Given the description of an element on the screen output the (x, y) to click on. 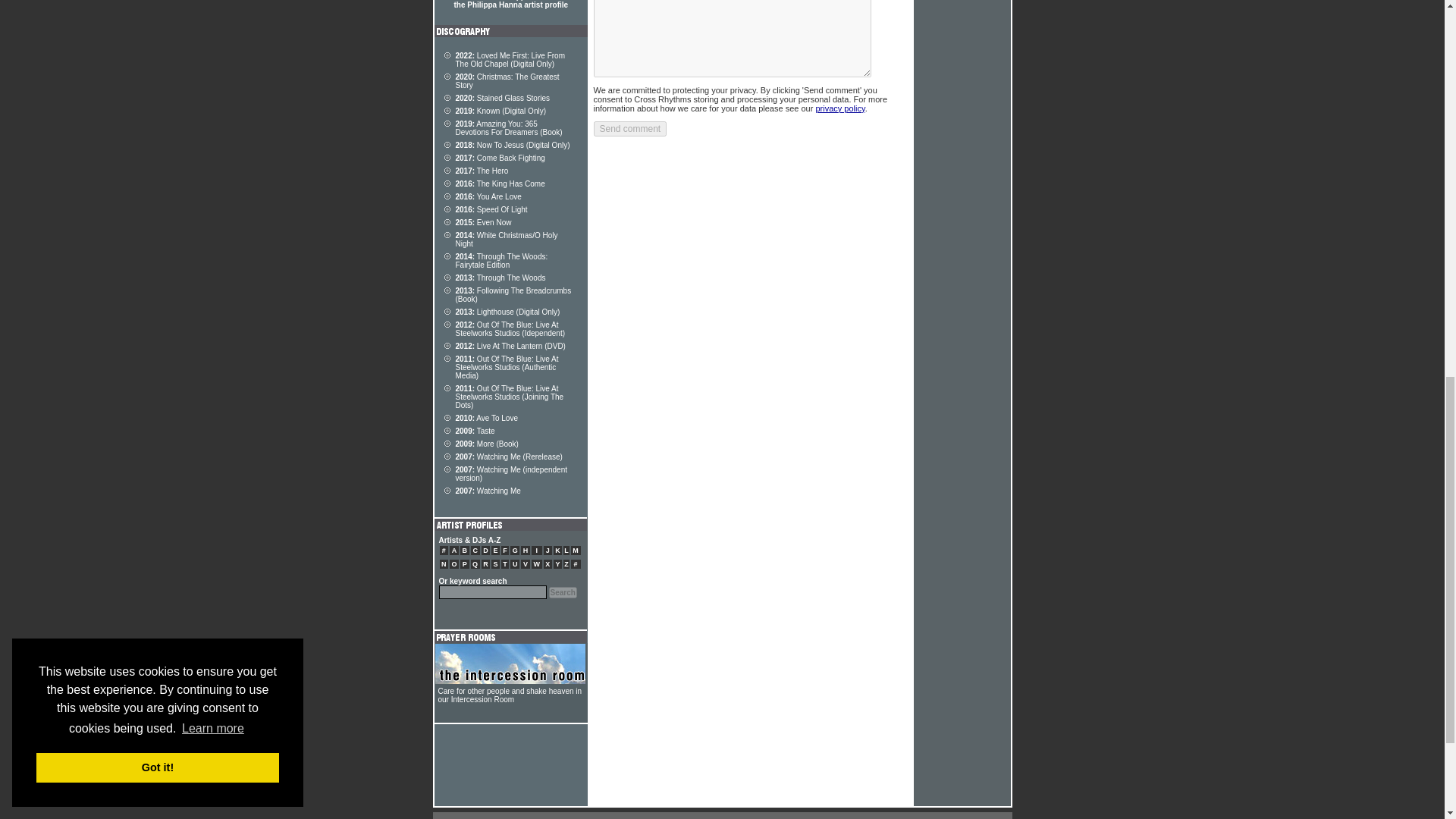
Send comment (629, 128)
Search (562, 592)
